Given the description of an element on the screen output the (x, y) to click on. 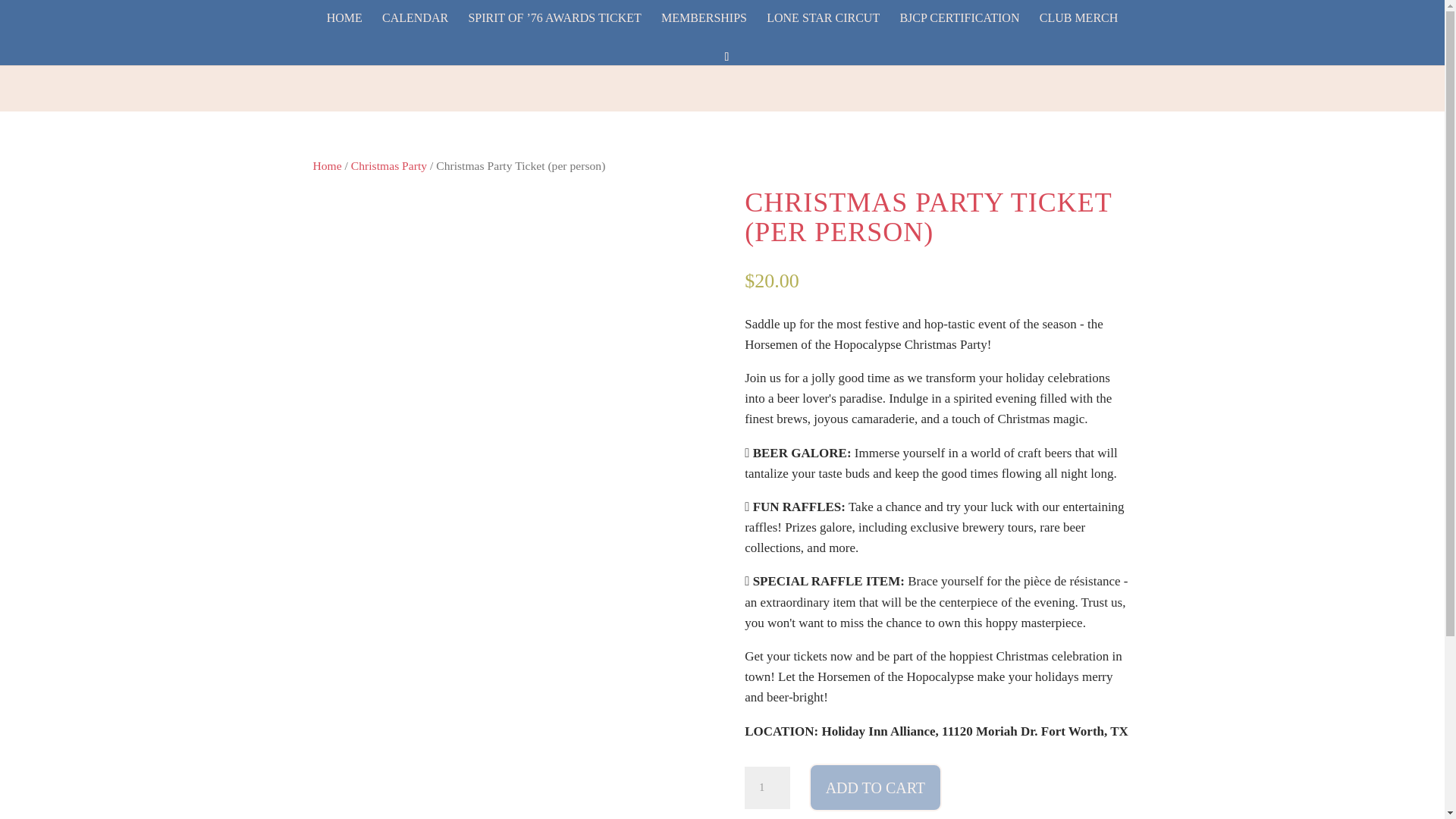
ADD TO CART (875, 787)
Home (326, 164)
HOME (344, 30)
CALENDAR (414, 30)
MEMBERSHIPS (703, 30)
BJCP CERTIFICATION (959, 30)
Christmas Party (388, 164)
CLUB MERCH (1078, 30)
LONE STAR CIRCUT (823, 30)
1 (767, 787)
